Given the description of an element on the screen output the (x, y) to click on. 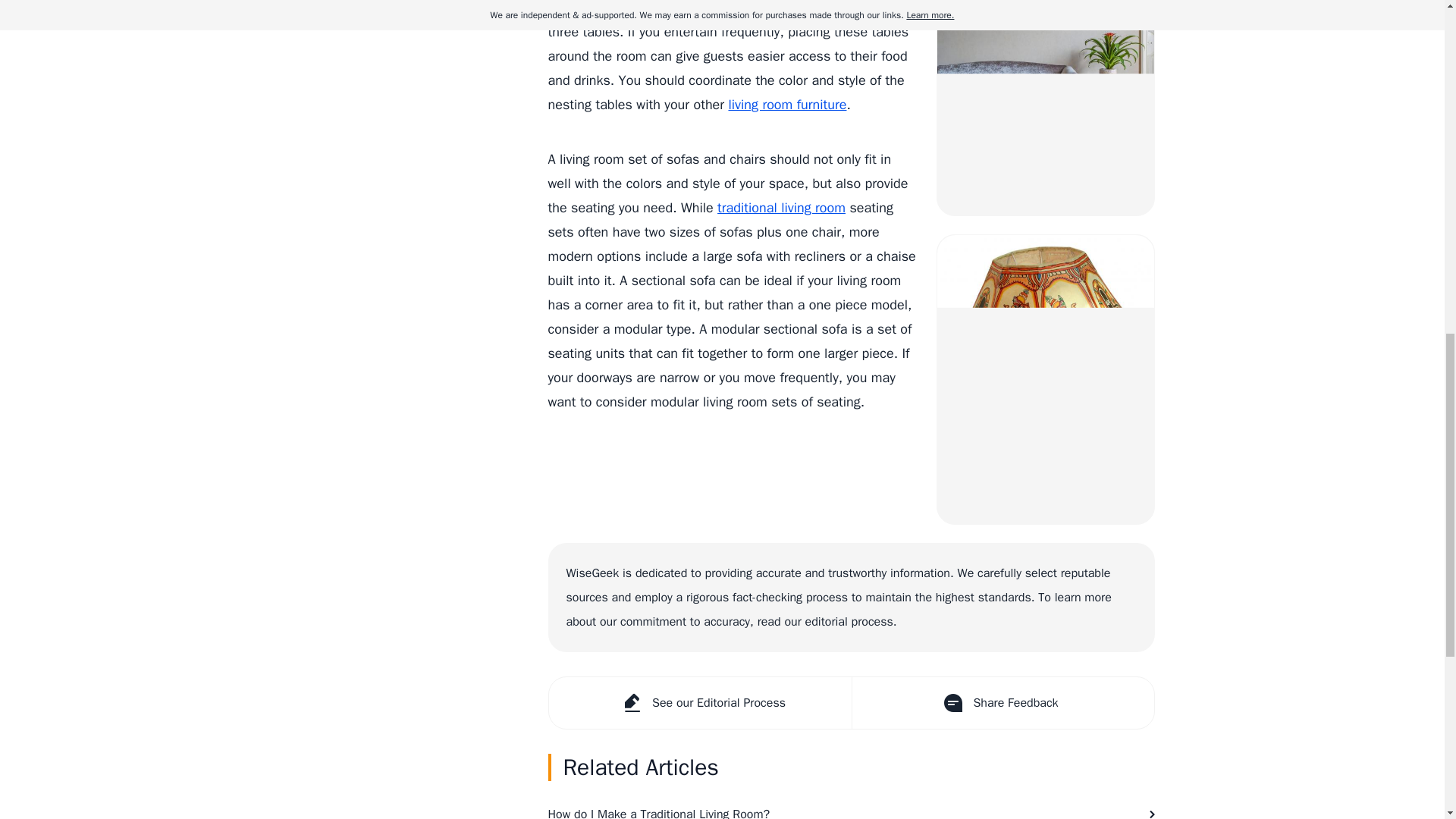
living room furniture (786, 104)
Share Feedback (1001, 702)
traditional living room (781, 207)
See our Editorial Process (699, 702)
How do I Make a Traditional Living Room? (850, 806)
